Given the description of an element on the screen output the (x, y) to click on. 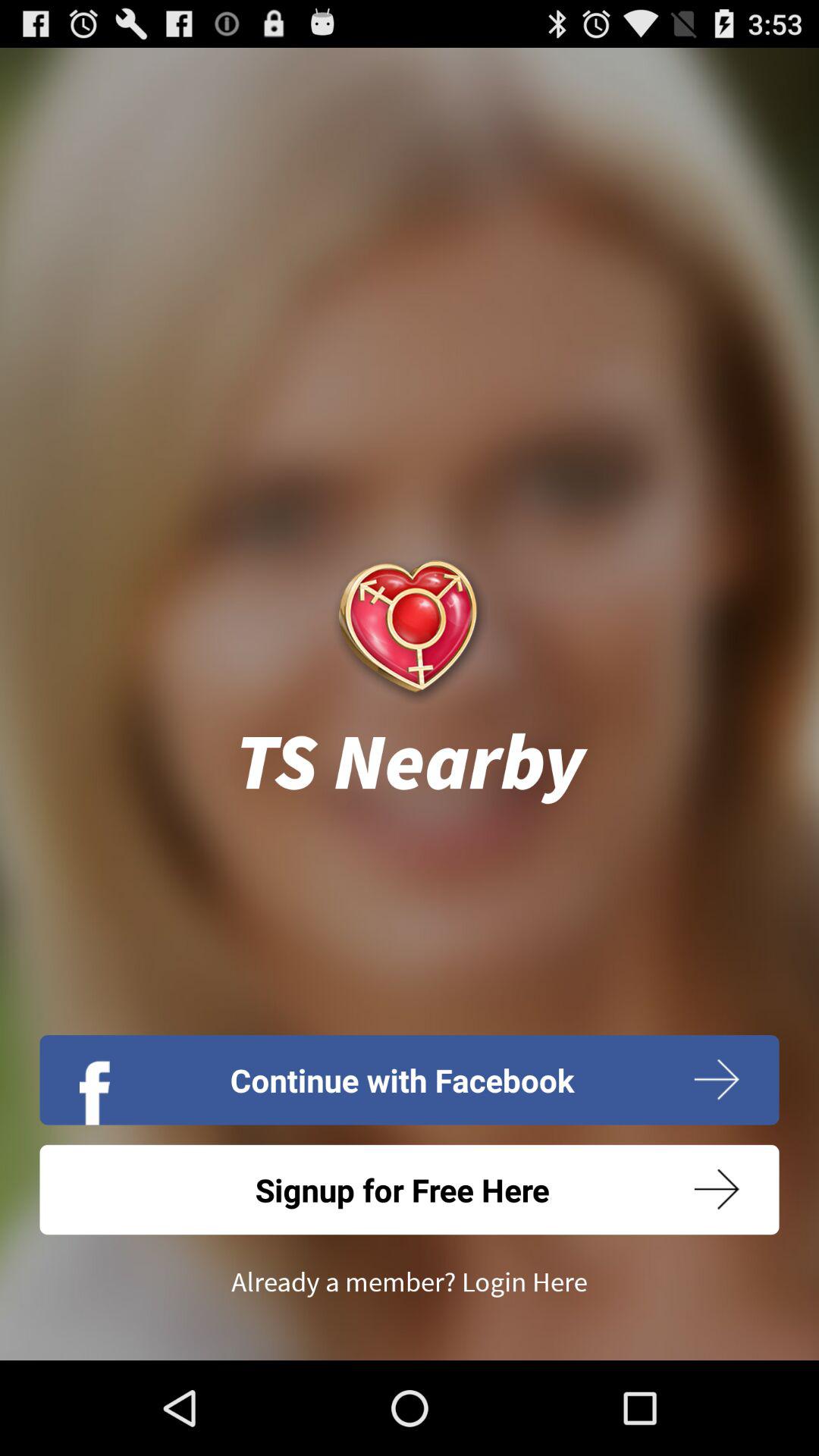
click icon below continue with facebook icon (409, 1189)
